Given the description of an element on the screen output the (x, y) to click on. 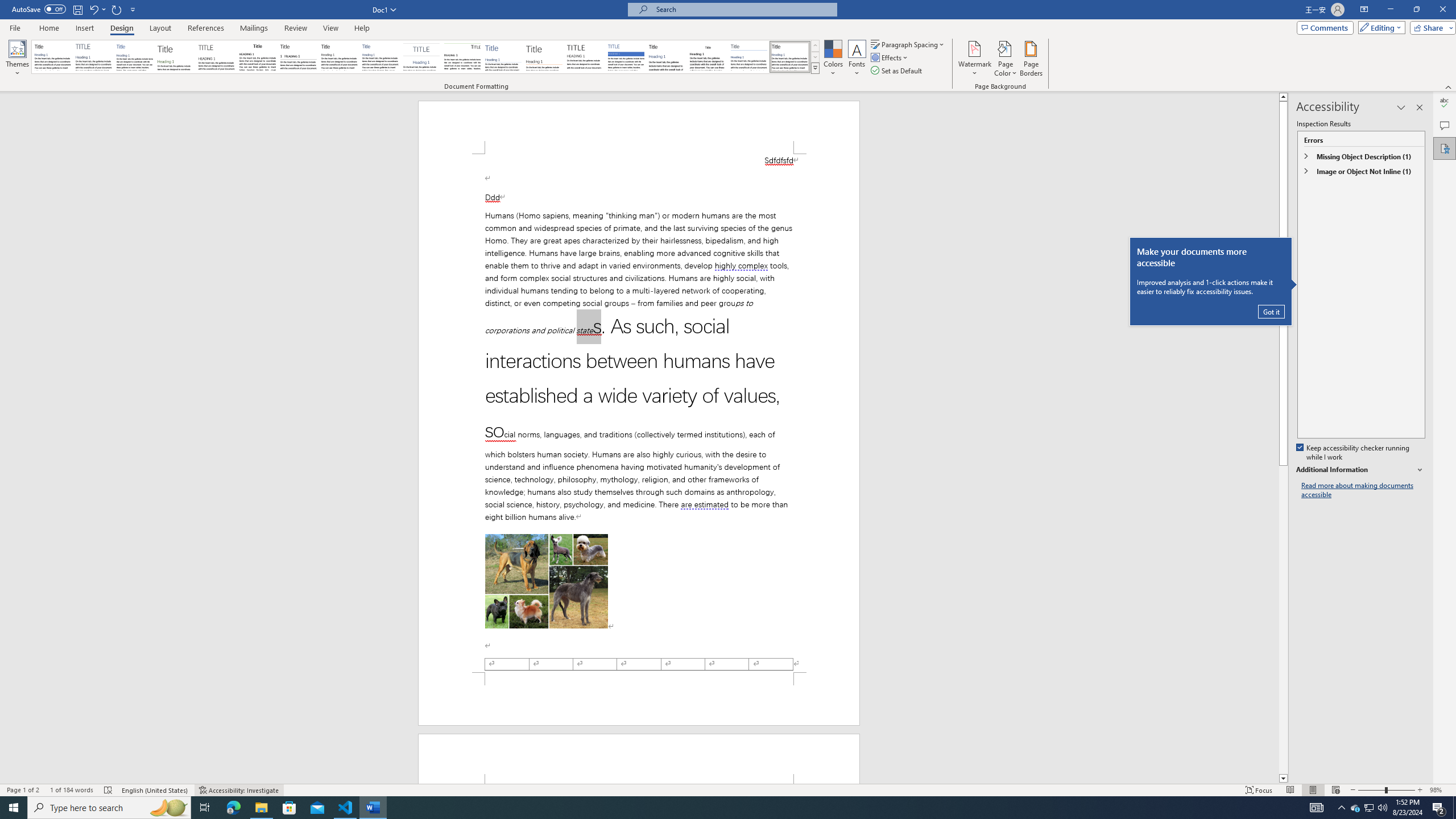
Word 2010 (749, 56)
Read more about making documents accessible (1363, 489)
Zoom Out (1371, 790)
Accessibility Checker Accessibility: Investigate (239, 790)
Collapse the Ribbon (1448, 86)
Zoom In (1420, 790)
Black & White (Classic) (257, 56)
Black & White (Word 2013) (338, 56)
Repeat Accessibility Checker (117, 9)
Mailings (253, 28)
Word 2003 (707, 56)
